Given the description of an element on the screen output the (x, y) to click on. 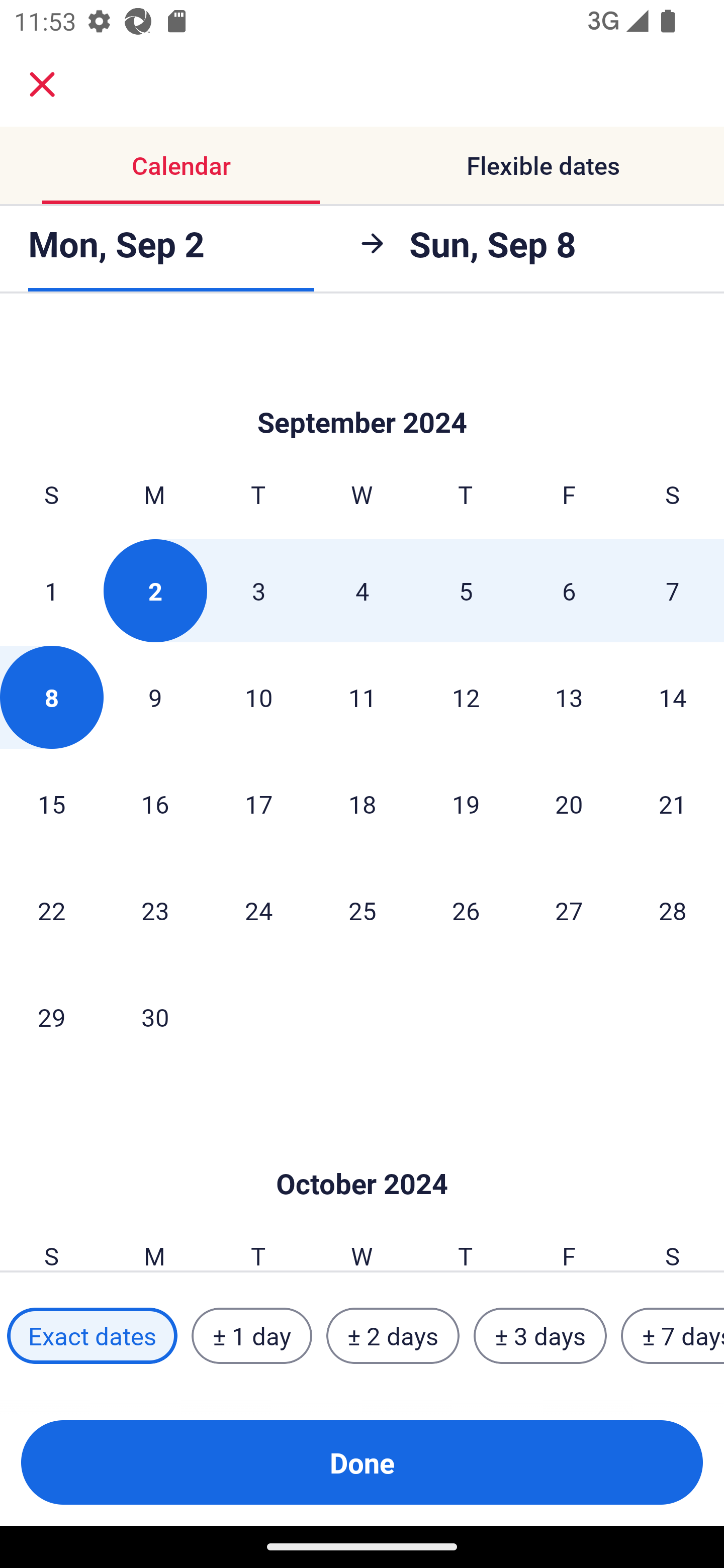
close. (42, 84)
Flexible dates (542, 164)
Skip to Done (362, 391)
1 Sunday, September 1, 2024 (51, 590)
9 Monday, September 9, 2024 (155, 697)
10 Tuesday, September 10, 2024 (258, 697)
11 Wednesday, September 11, 2024 (362, 697)
12 Thursday, September 12, 2024 (465, 697)
13 Friday, September 13, 2024 (569, 697)
14 Saturday, September 14, 2024 (672, 697)
15 Sunday, September 15, 2024 (51, 804)
16 Monday, September 16, 2024 (155, 804)
17 Tuesday, September 17, 2024 (258, 804)
18 Wednesday, September 18, 2024 (362, 804)
19 Thursday, September 19, 2024 (465, 804)
20 Friday, September 20, 2024 (569, 804)
21 Saturday, September 21, 2024 (672, 804)
22 Sunday, September 22, 2024 (51, 910)
23 Monday, September 23, 2024 (155, 910)
24 Tuesday, September 24, 2024 (258, 910)
25 Wednesday, September 25, 2024 (362, 910)
26 Thursday, September 26, 2024 (465, 910)
27 Friday, September 27, 2024 (569, 910)
28 Saturday, September 28, 2024 (672, 910)
29 Sunday, September 29, 2024 (51, 1016)
30 Monday, September 30, 2024 (155, 1016)
Skip to Done (362, 1153)
Exact dates (92, 1335)
± 1 day (251, 1335)
± 2 days (392, 1335)
± 3 days (539, 1335)
± 7 days (672, 1335)
Done (361, 1462)
